Given the description of an element on the screen output the (x, y) to click on. 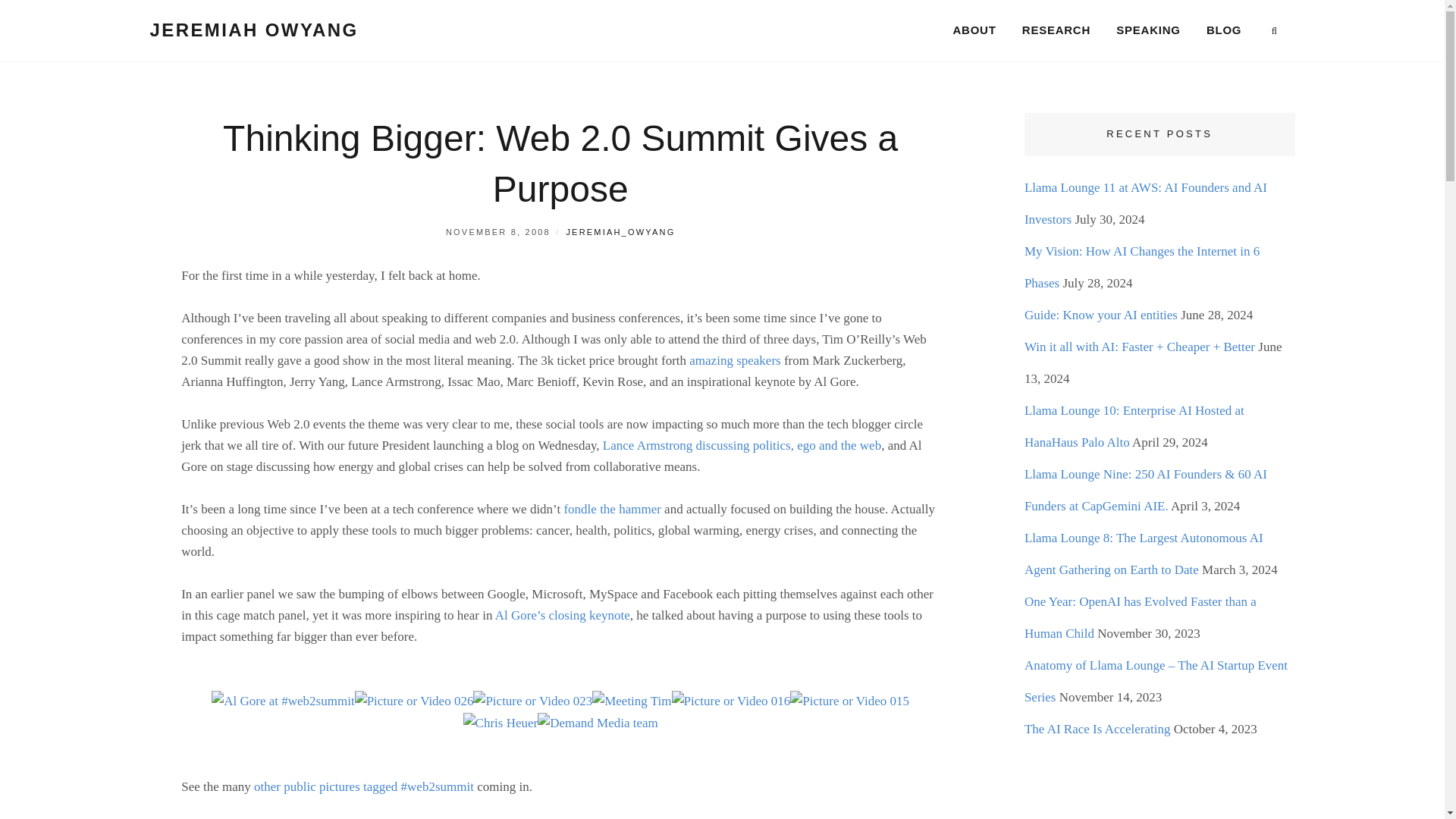
BLOG (1223, 29)
ABOUT (974, 29)
Lance Armstrong discussing politics, ego and the web (741, 445)
amazing speakers (734, 359)
SPEAKING (1148, 29)
fondle the hammer (612, 509)
RESEARCH (1056, 29)
JEREMIAH OWYANG (253, 29)
SEARCH (1274, 31)
